Given the description of an element on the screen output the (x, y) to click on. 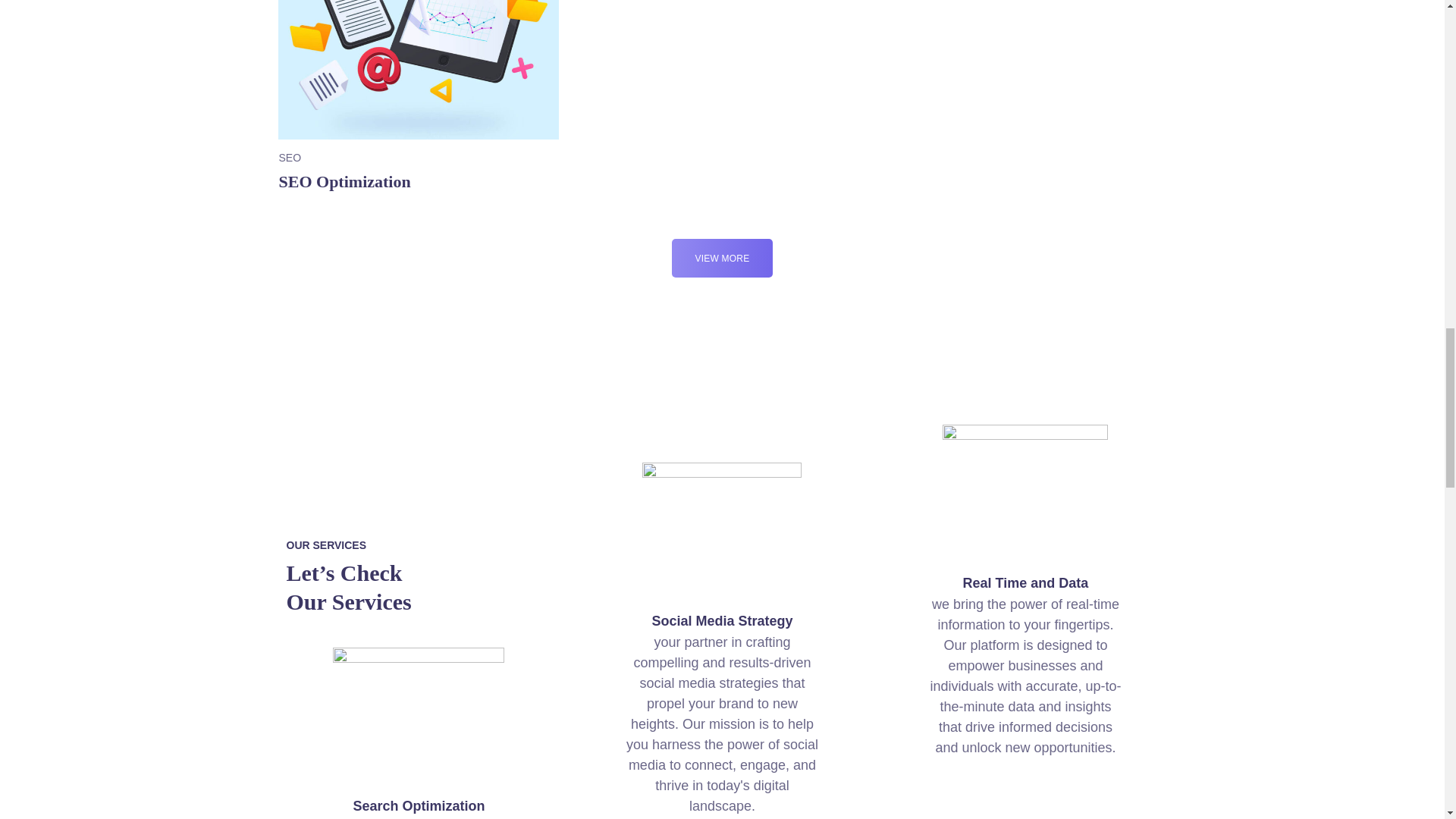
SEO Optimization (419, 96)
SEO-Optimization (419, 69)
VIEW MORE (419, 96)
